Given the description of an element on the screen output the (x, y) to click on. 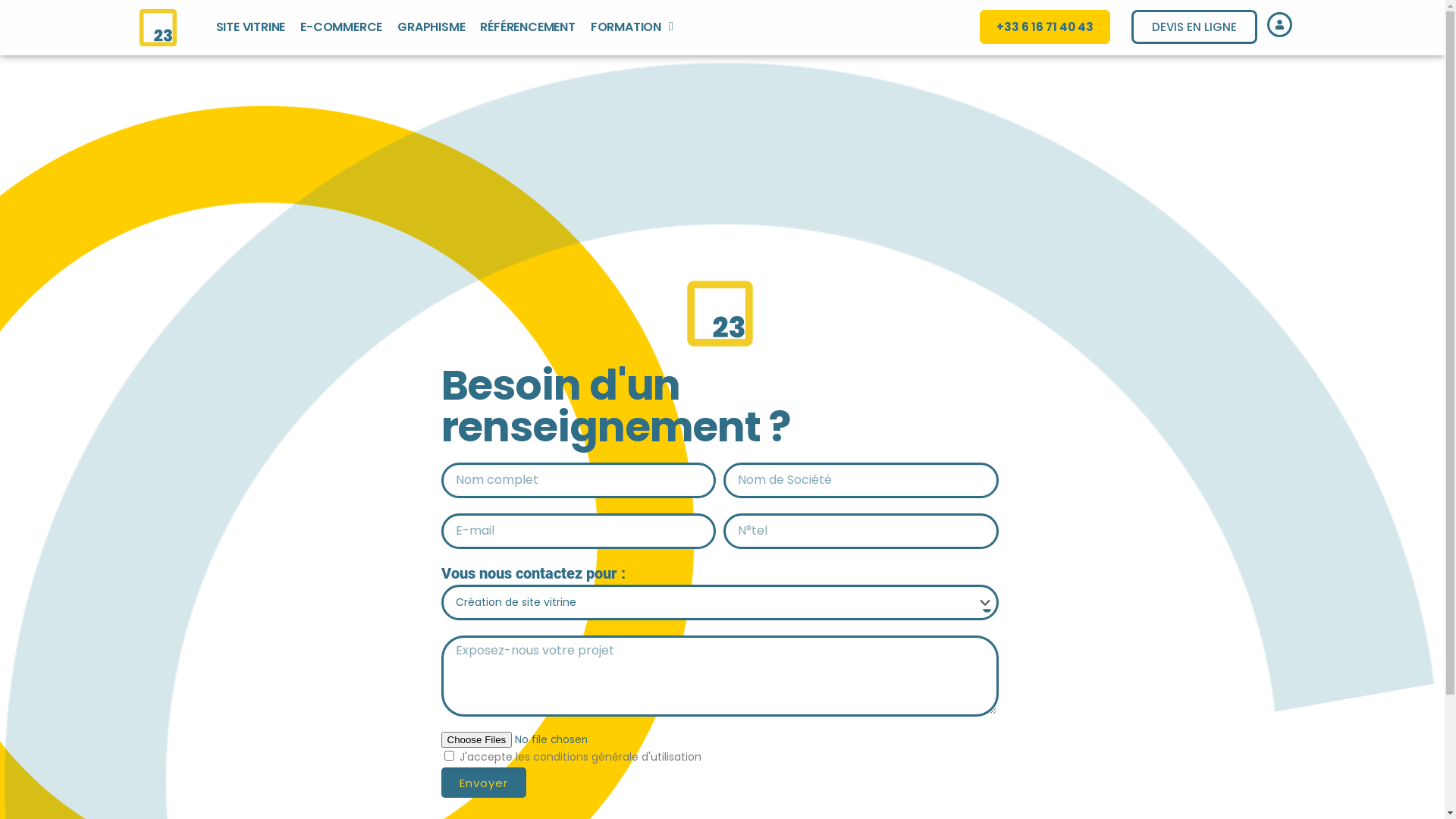
DEVIS EN LIGNE Element type: text (1194, 26)
GRAPHISME Element type: text (430, 26)
Envoyer Element type: text (483, 782)
FORMATION Element type: text (631, 26)
+33 6 16 71 40 43 Element type: text (1044, 26)
SITE VITRINE Element type: text (250, 26)
E-COMMERCE Element type: text (340, 26)
